Given the description of an element on the screen output the (x, y) to click on. 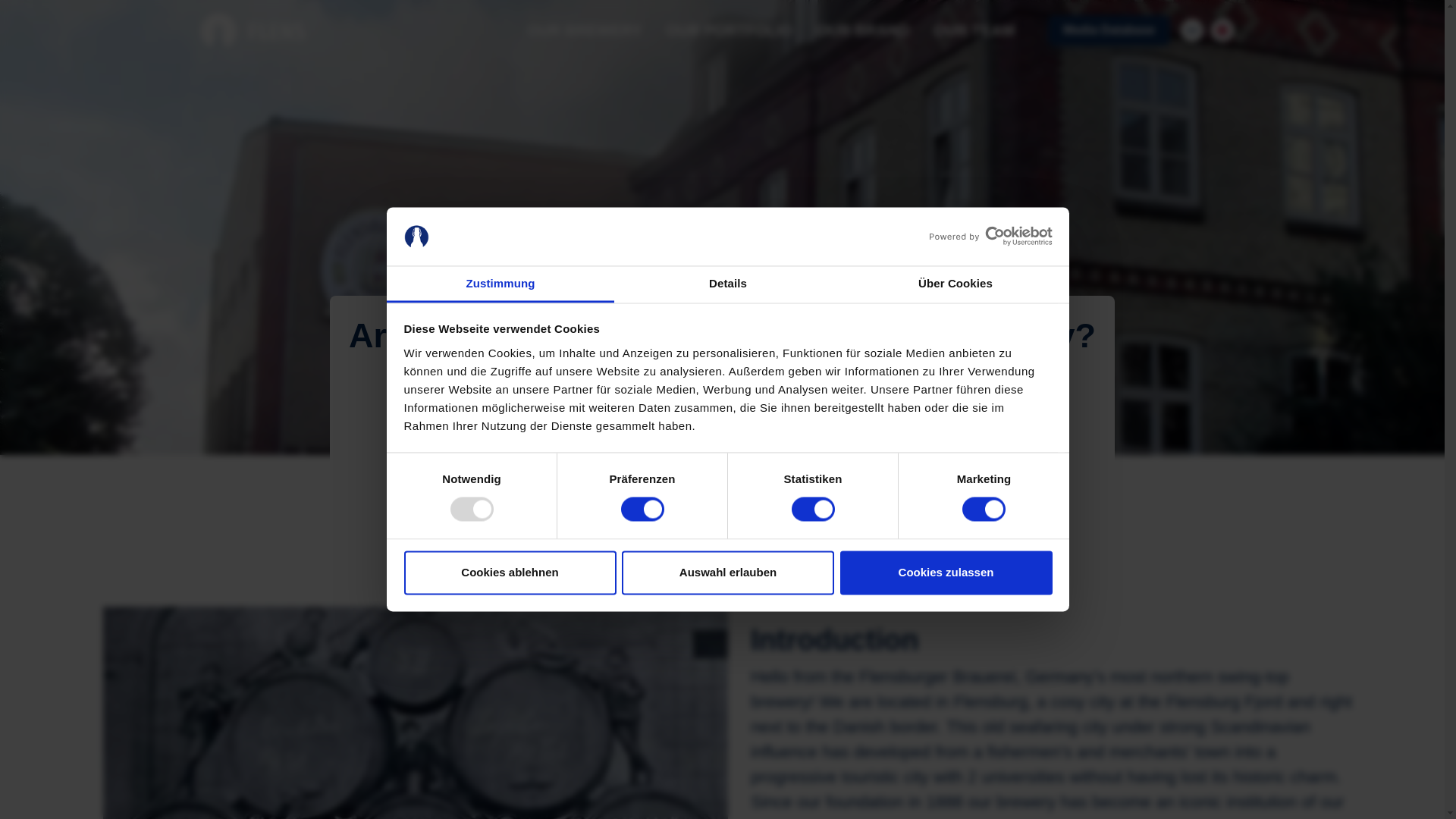
Select language (1222, 29)
Zustimmung (500, 284)
Contact (1192, 29)
Details (727, 284)
